Given the description of an element on the screen output the (x, y) to click on. 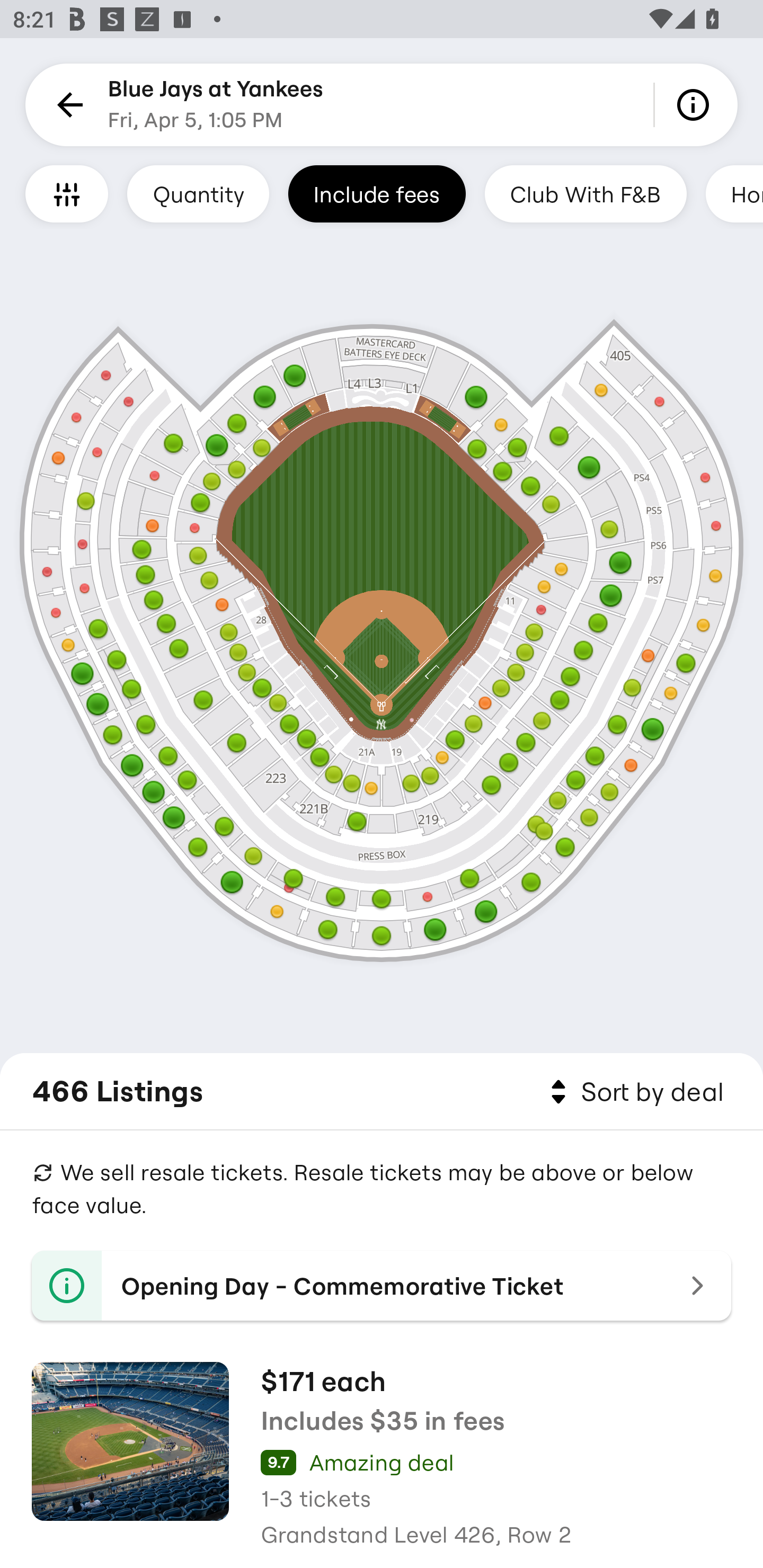
Back (66, 104)
Blue Jays at Yankees Fri, Apr 5, 1:05 PM (215, 104)
Info (695, 104)
Filters and Accessible Seating (66, 193)
Quantity (198, 193)
Include fees (376, 193)
Club With F&B (585, 193)
Sort by deal (633, 1091)
Opening Day - Commemorative Ticket (381, 1285)
